Given the description of an element on the screen output the (x, y) to click on. 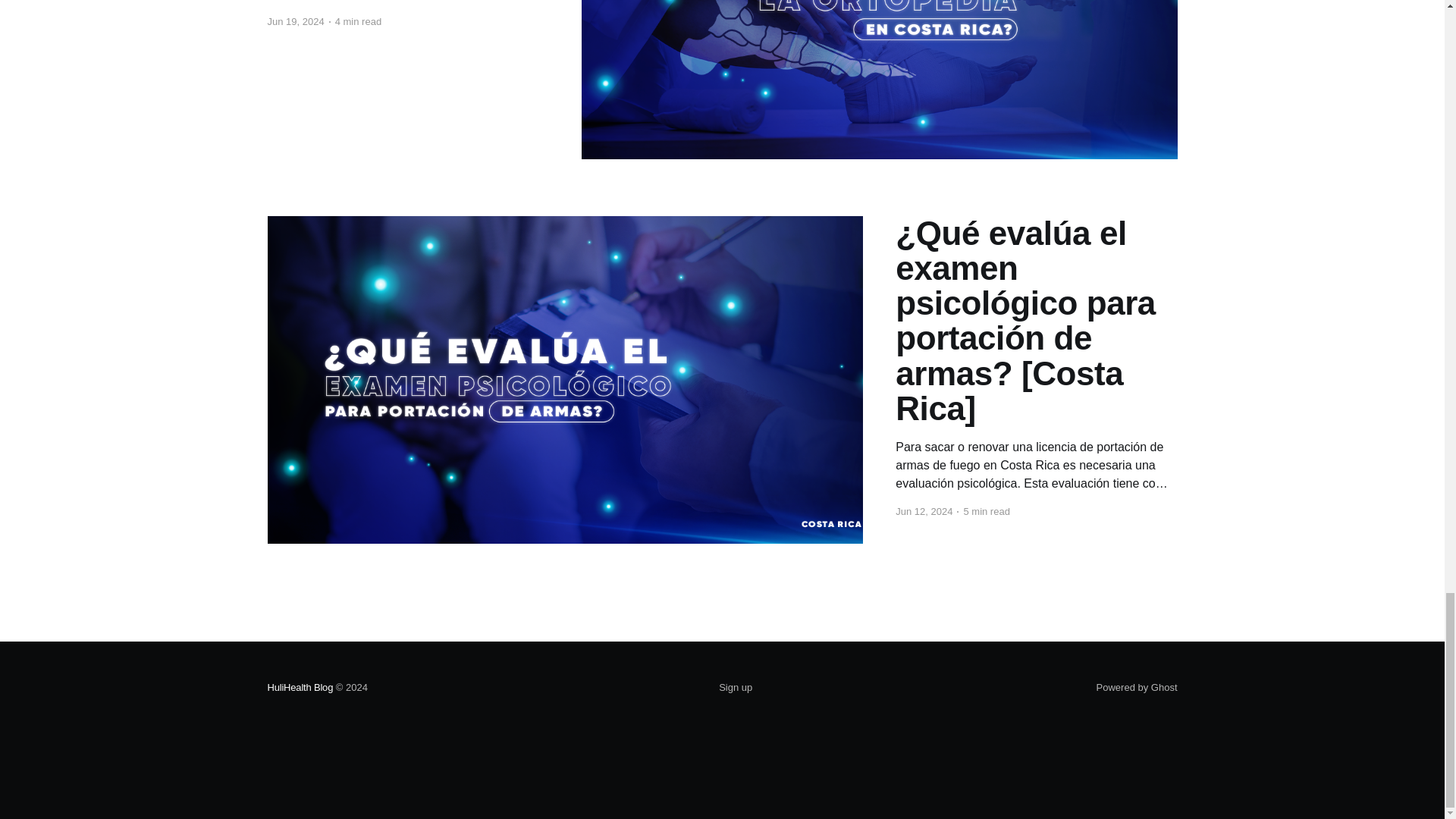
HuliHealth Blog (299, 686)
Powered by Ghost (1136, 686)
Sign up (735, 687)
